Given the description of an element on the screen output the (x, y) to click on. 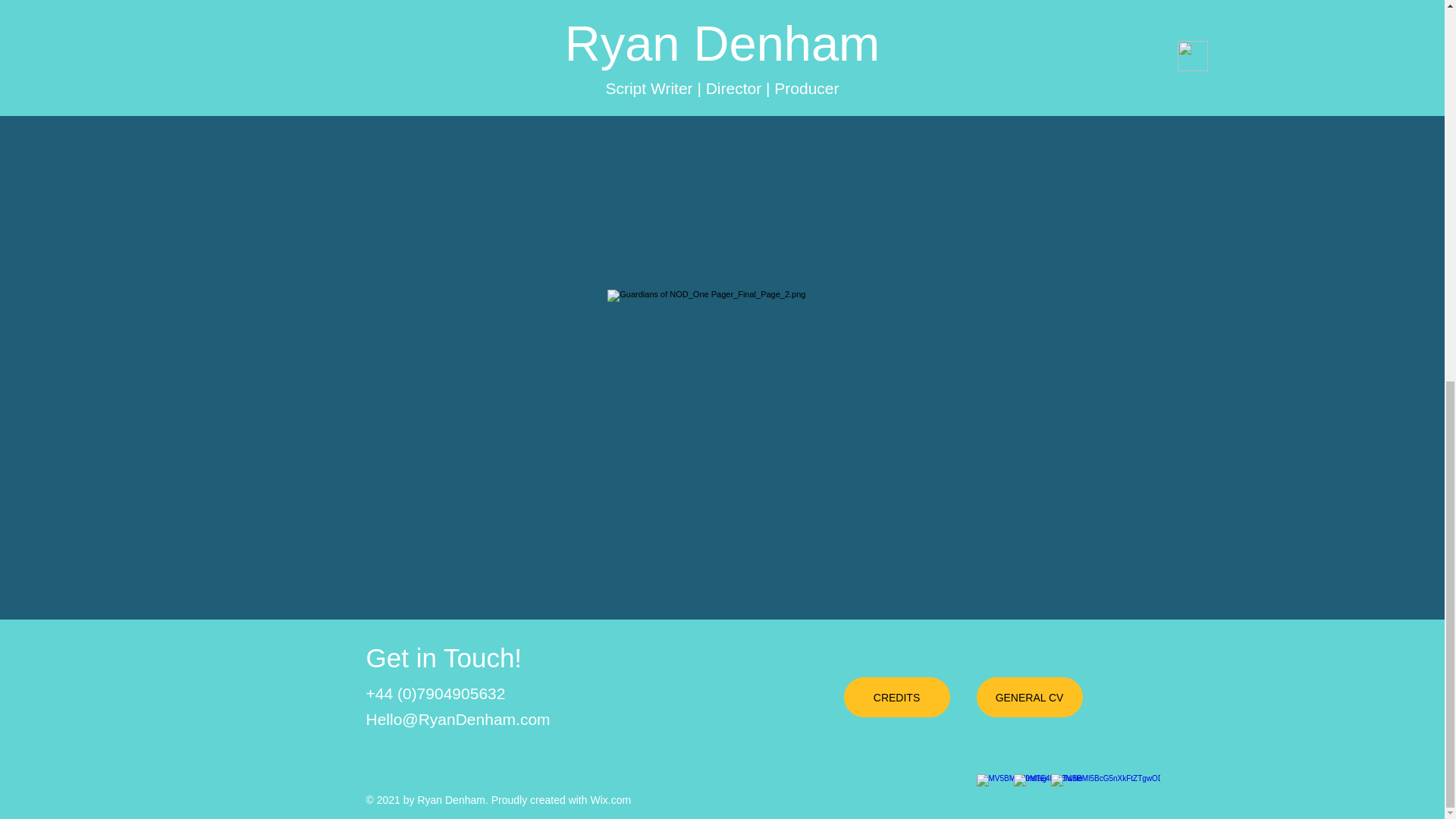
Wix.com (609, 799)
CREDITS (896, 697)
GENERAL CV (1029, 697)
